Given the description of an element on the screen output the (x, y) to click on. 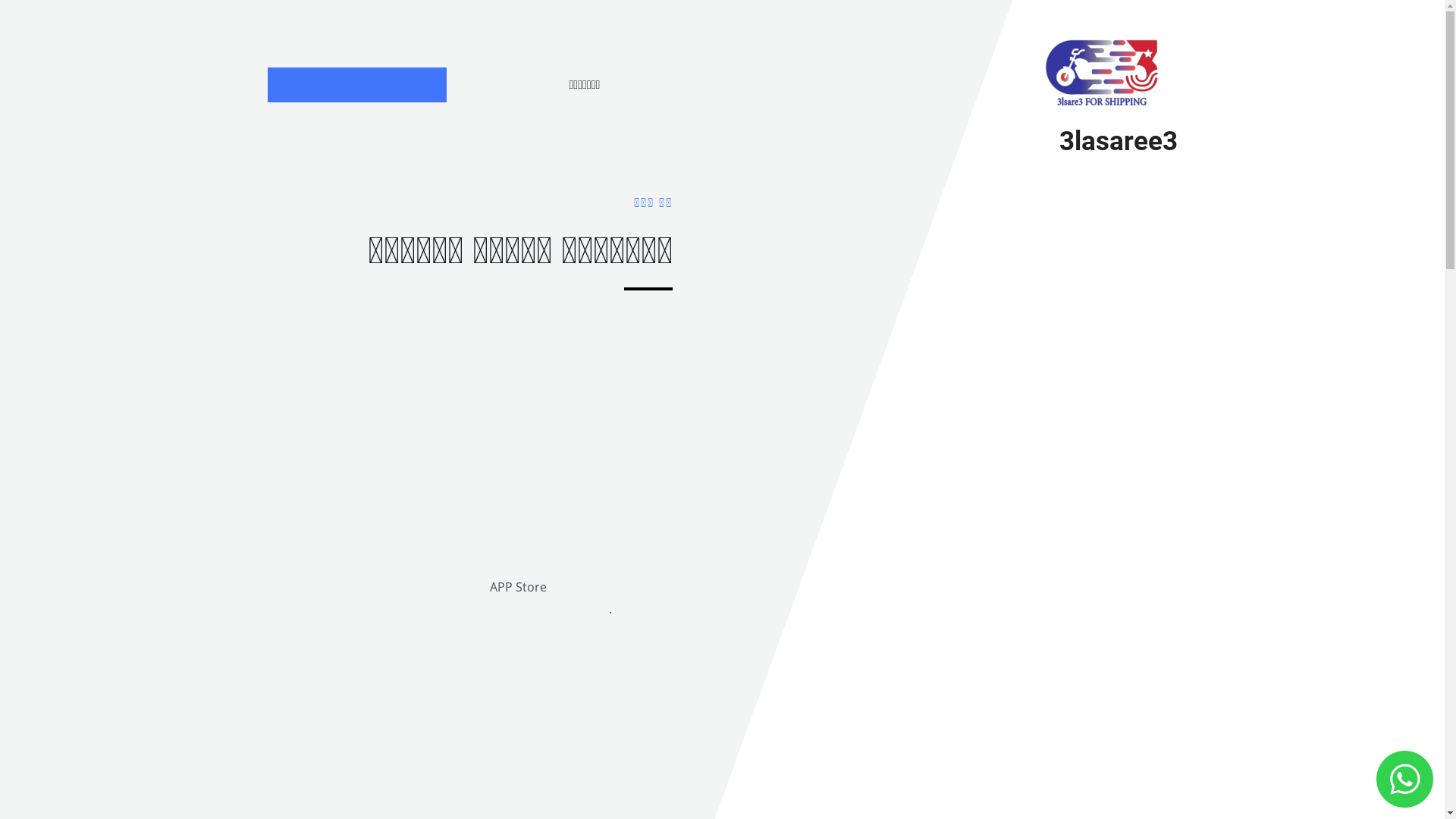
3lasaree3 Element type: text (1117, 140)
